Given the description of an element on the screen output the (x, y) to click on. 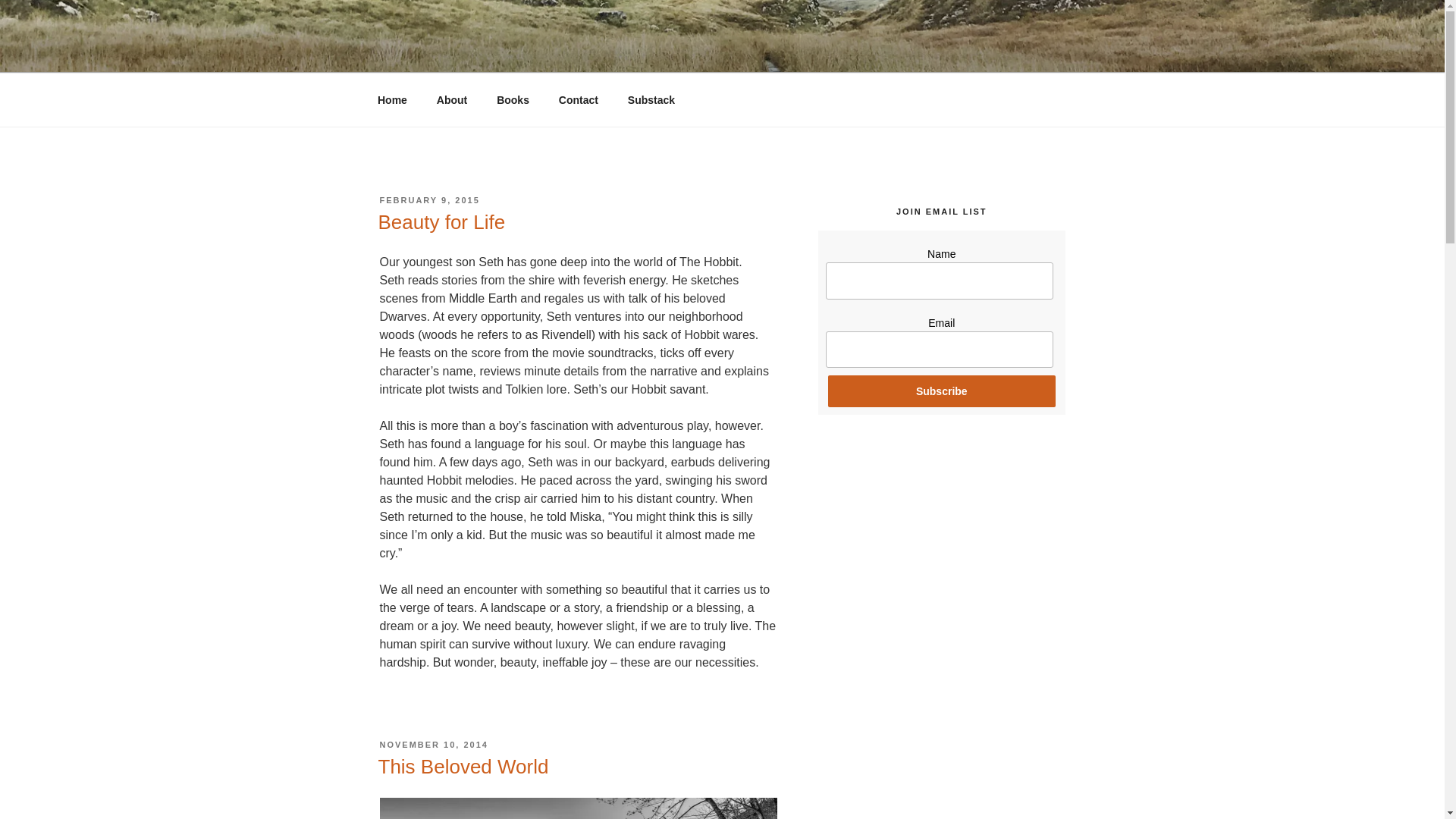
Books (513, 99)
Home (392, 99)
Substack (650, 99)
FEBRUARY 9, 2015 (428, 199)
Subscribe (941, 391)
Subscribe (941, 391)
NOVEMBER 10, 2014 (432, 744)
About (451, 99)
WINNCOLLIER.COM (526, 52)
Beauty for Life (441, 221)
